Given the description of an element on the screen output the (x, y) to click on. 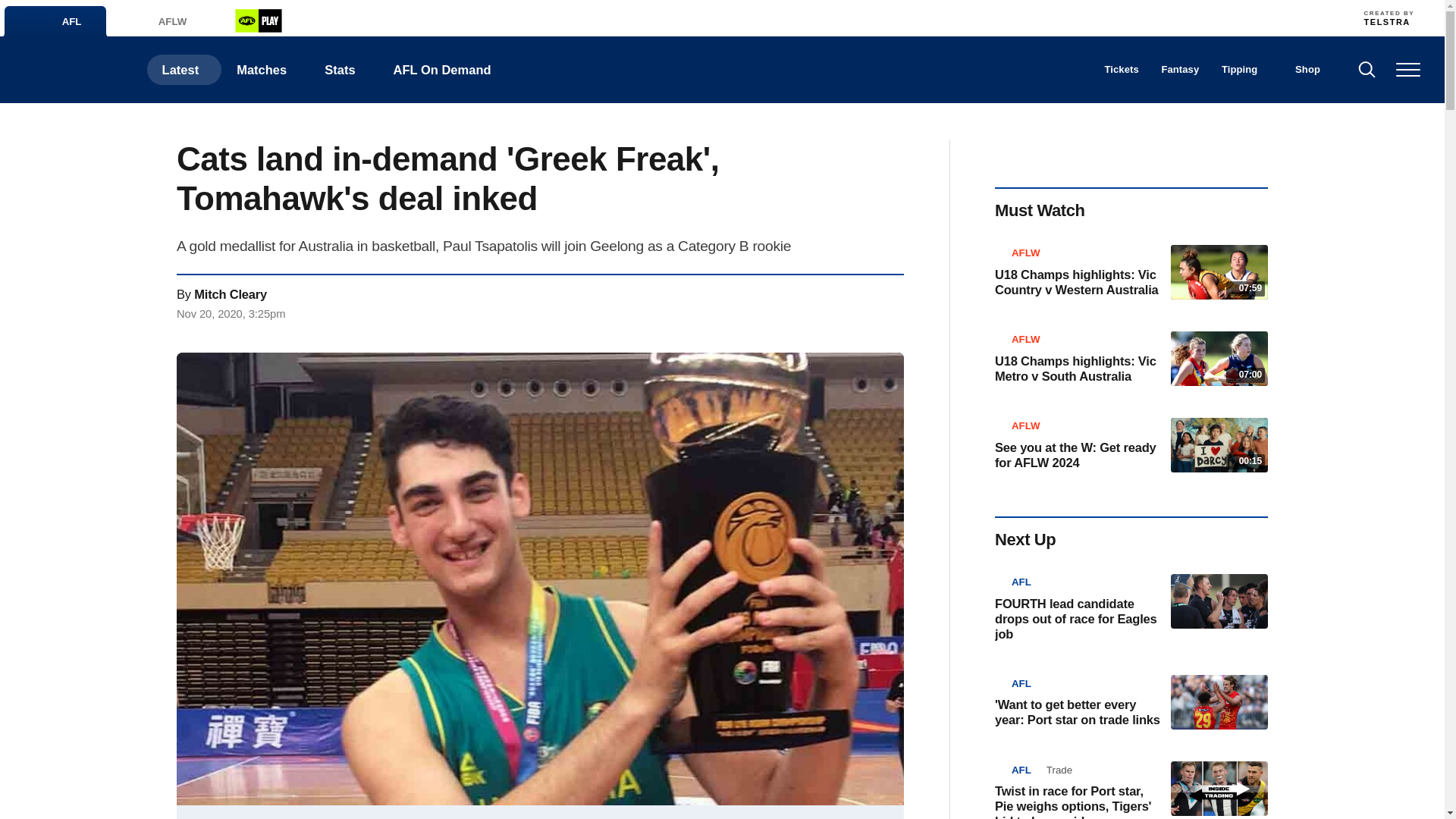
Fremantle (704, 17)
Melbourne (871, 17)
Sydney Swans (1037, 17)
Brisbane (571, 17)
GWS Giants (804, 17)
West Coast Eagles (1071, 17)
Hawthorn (837, 17)
AFLW (155, 21)
Essendon (670, 17)
Richmond (971, 17)
